Given the description of an element on the screen output the (x, y) to click on. 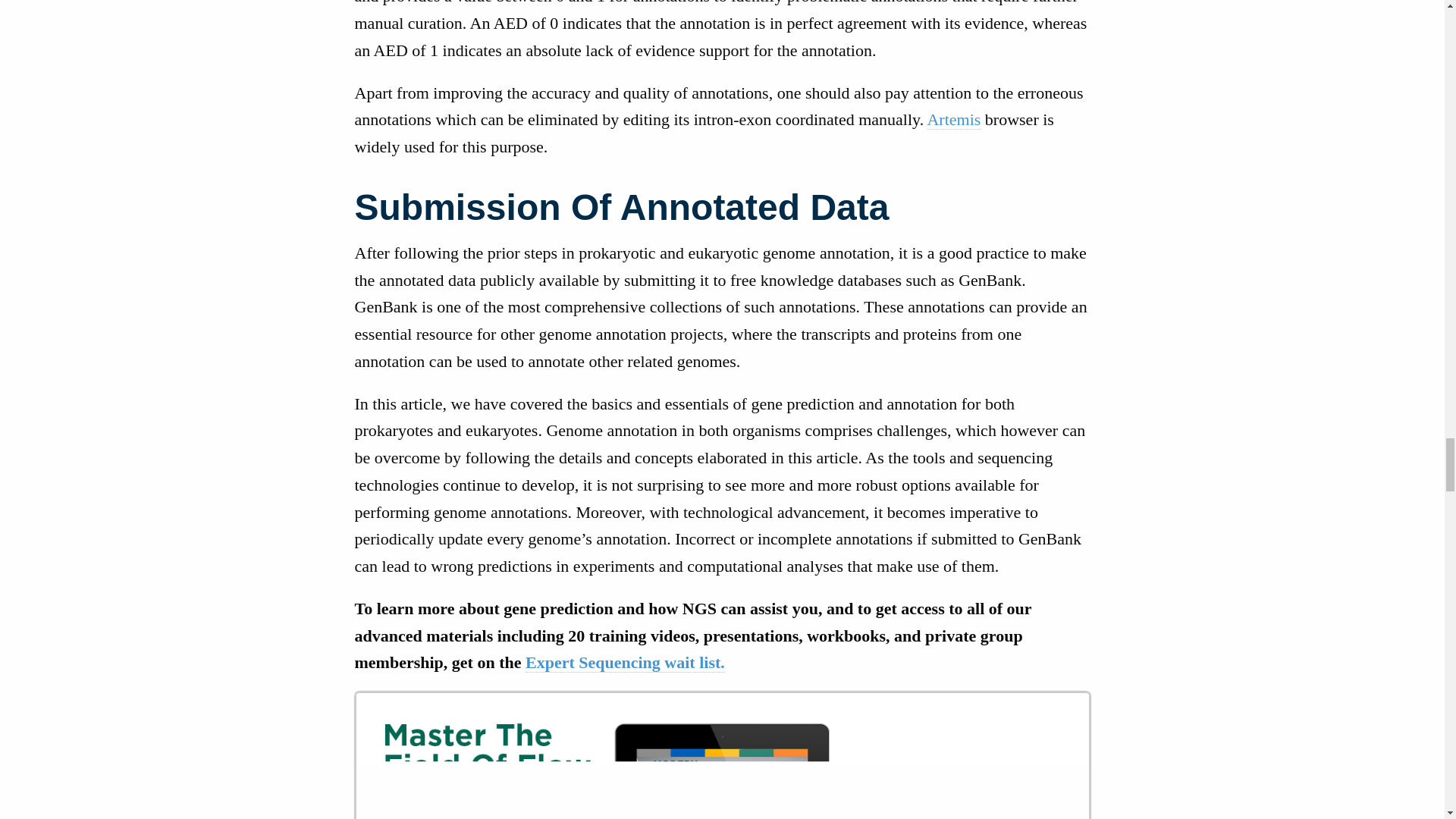
Join Expert Cytometry's Mastery Class (722, 755)
